Given the description of an element on the screen output the (x, y) to click on. 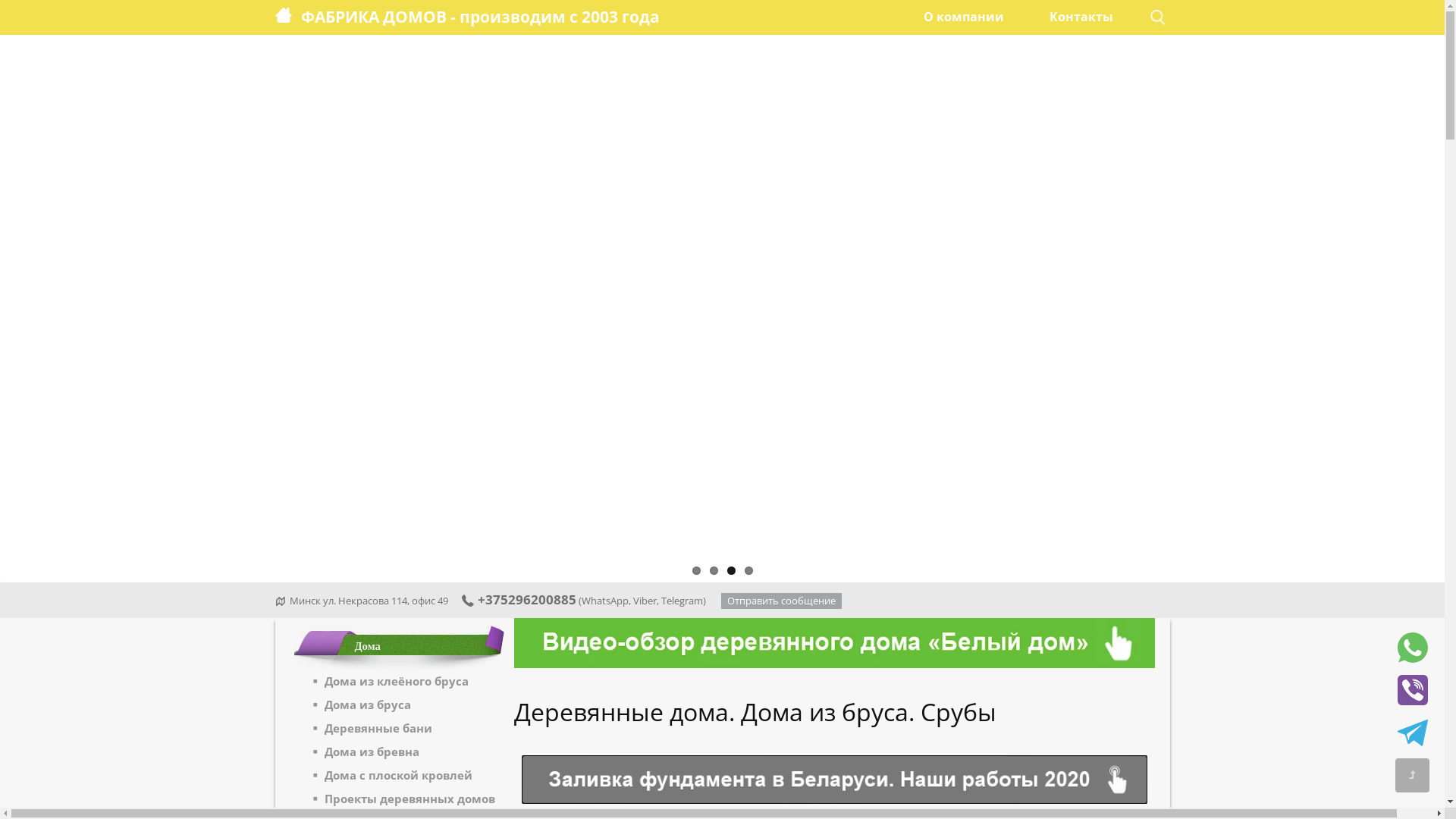
WhatsApp Element type: text (604, 600)
1 Element type: text (695, 570)
Telegram Element type: text (681, 600)
+375296200885 Element type: text (518, 598)
4 Element type: text (748, 570)
2 Element type: text (713, 570)
Viber Element type: text (644, 600)
3 Element type: text (730, 570)
